Given the description of an element on the screen output the (x, y) to click on. 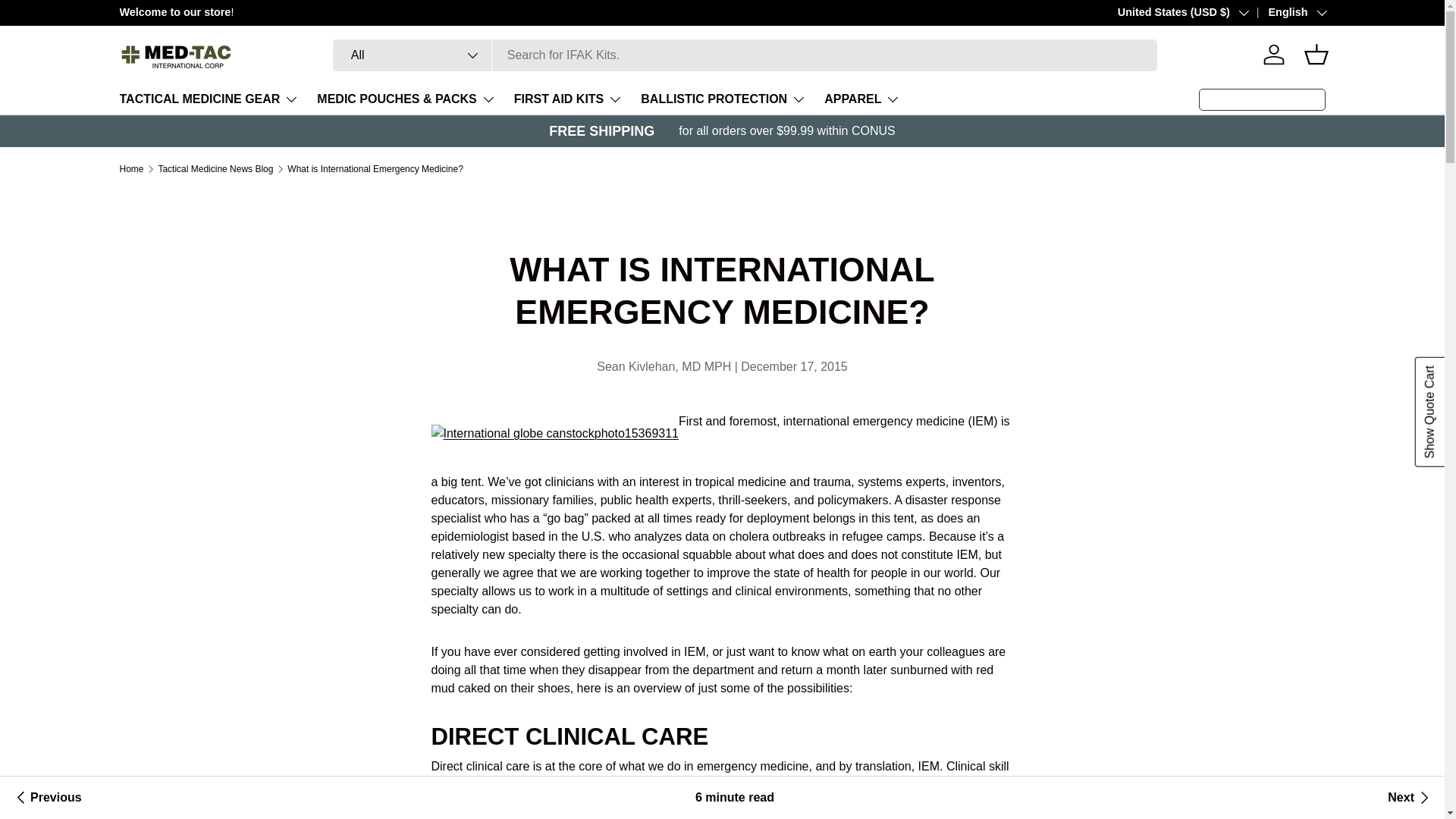
Skip to content (68, 21)
English (1285, 12)
Log in (1273, 54)
Basket (1316, 54)
All (412, 55)
TACTICAL MEDICINE GEAR (209, 99)
Reflections on the Closing of a Hospital (46, 797)
